Given the description of an element on the screen output the (x, y) to click on. 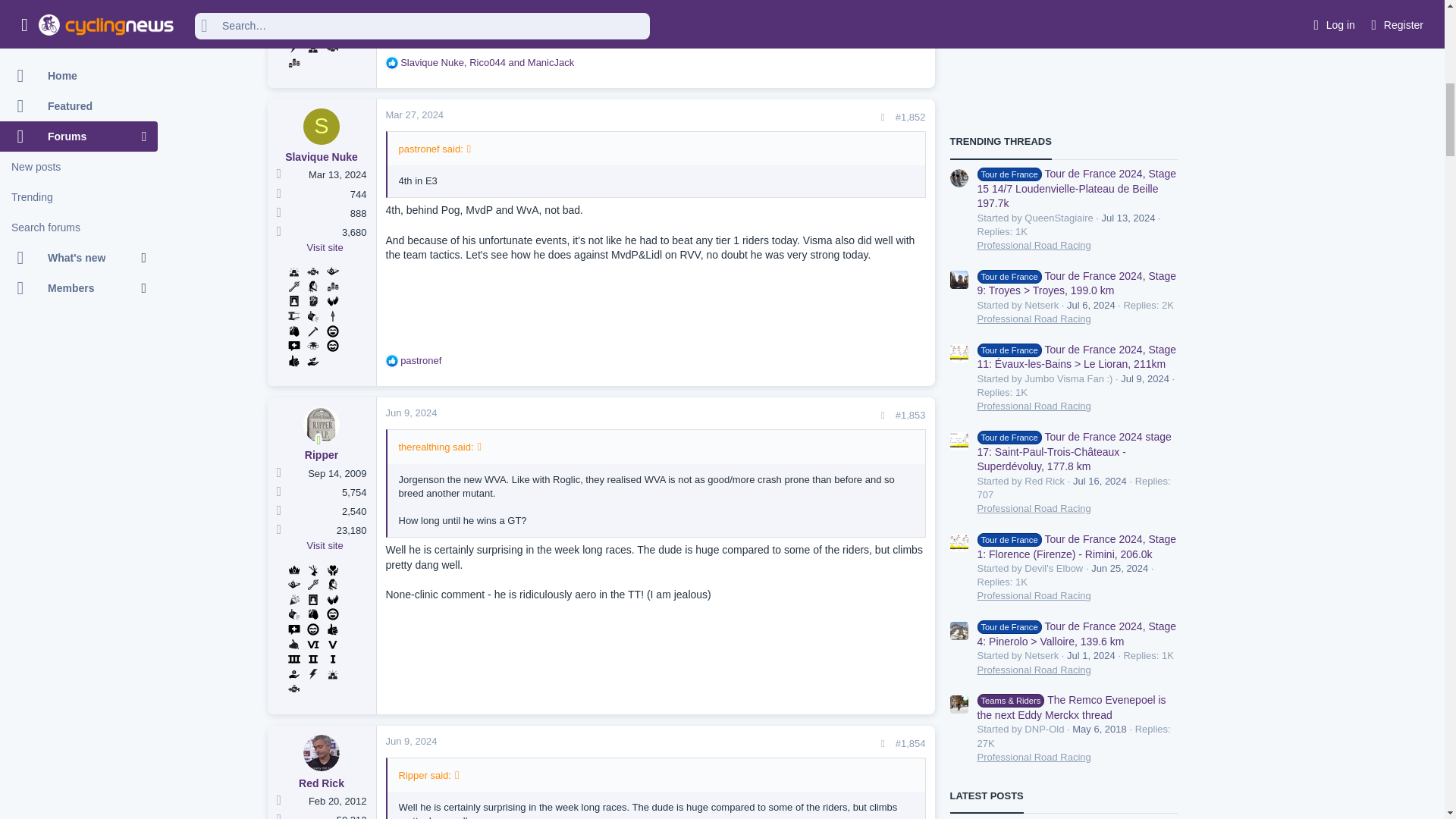
Jun 9, 2024 at 3:44 PM (410, 412)
Jun 9, 2024 at 4:29 PM (410, 740)
Like (391, 360)
Like (391, 62)
Mar 27, 2024 at 5:58 PM (414, 114)
